Given the description of an element on the screen output the (x, y) to click on. 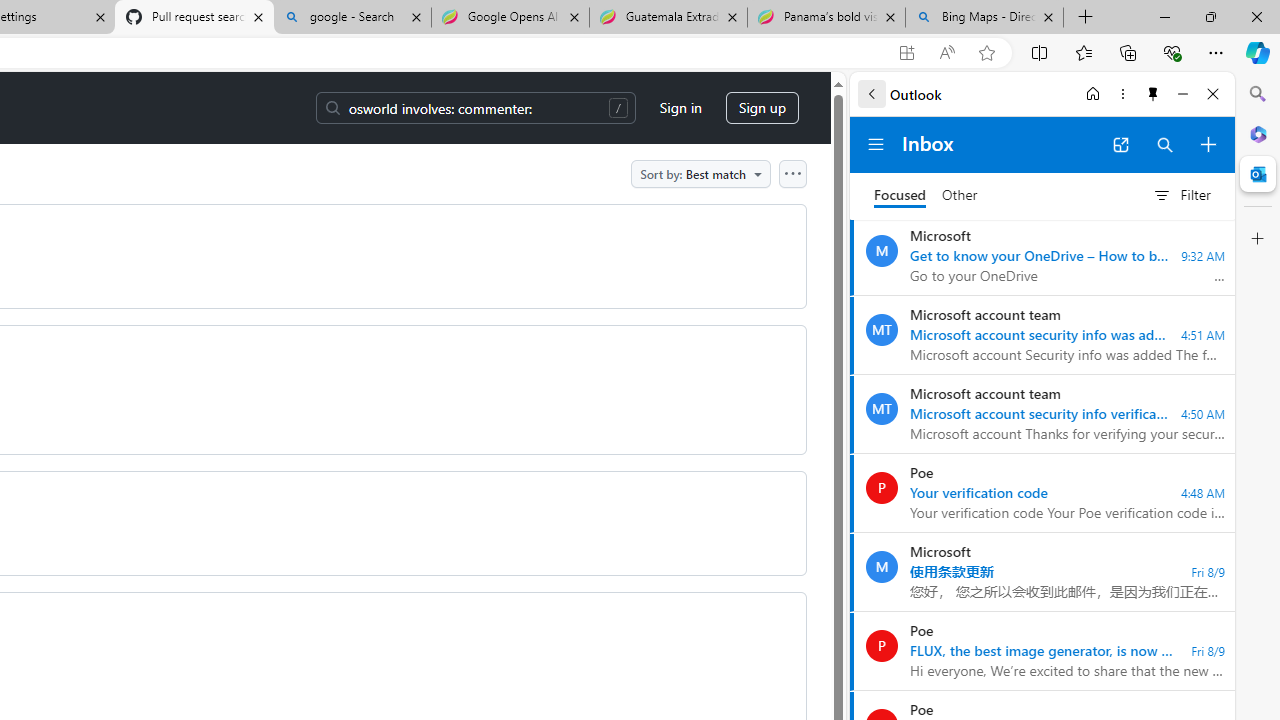
Open in new tab (1120, 144)
Unpin side pane (1153, 93)
Focused (900, 195)
Sort by: Best match (700, 173)
